Given the description of an element on the screen output the (x, y) to click on. 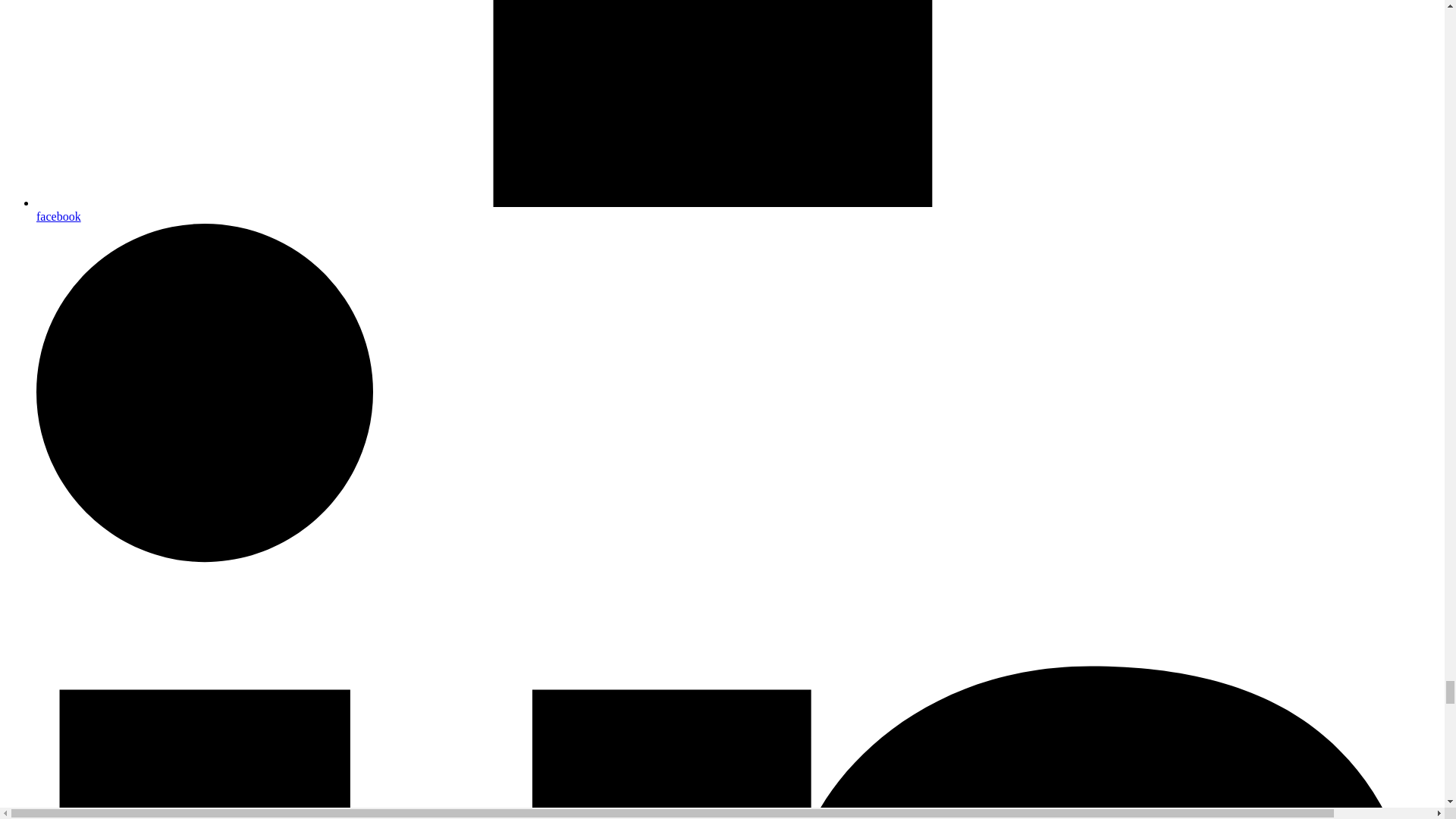
facebook (737, 209)
